Given the description of an element on the screen output the (x, y) to click on. 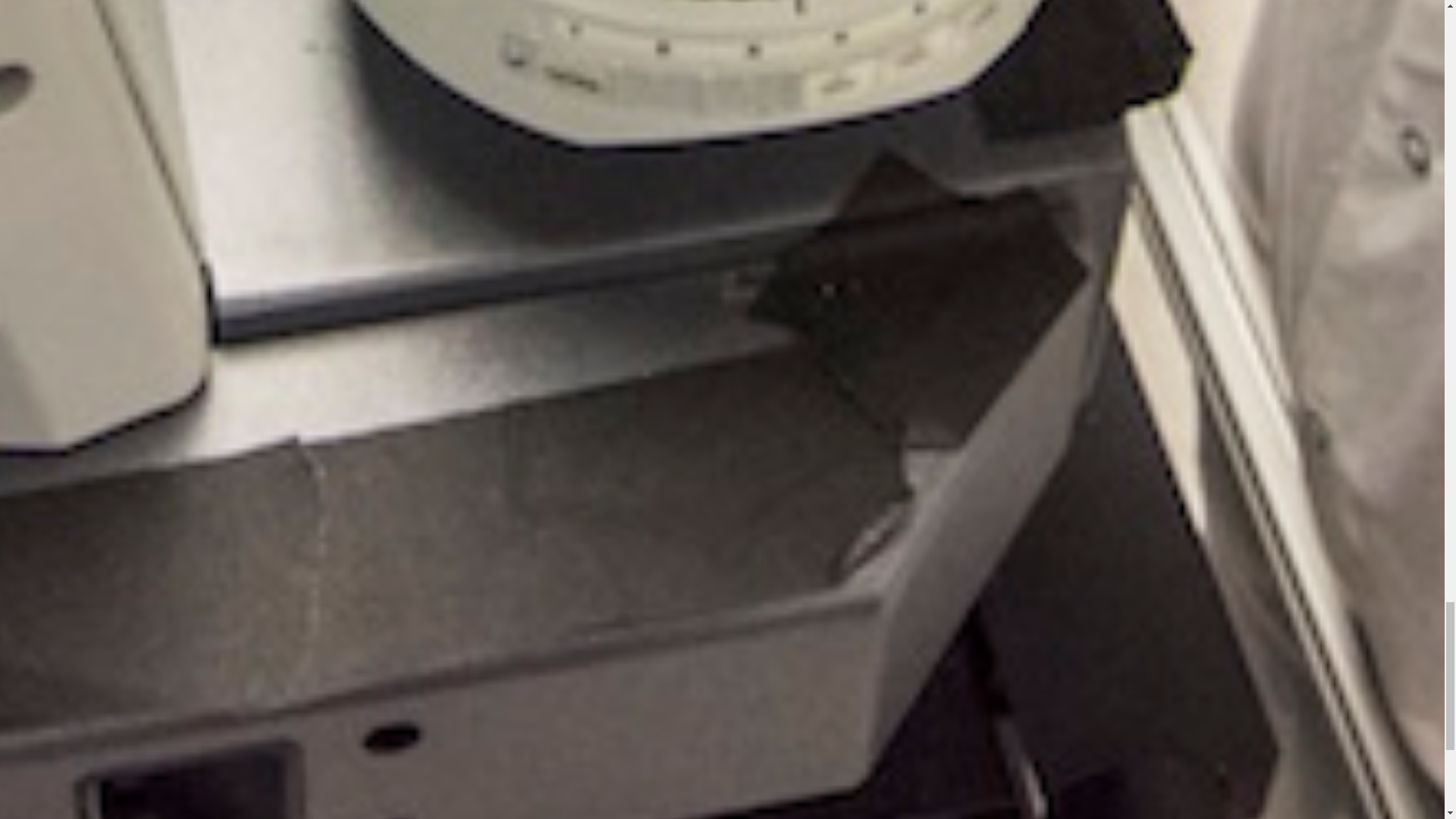
www.lbl.gov (1209, 804)
